Given the description of an element on the screen output the (x, y) to click on. 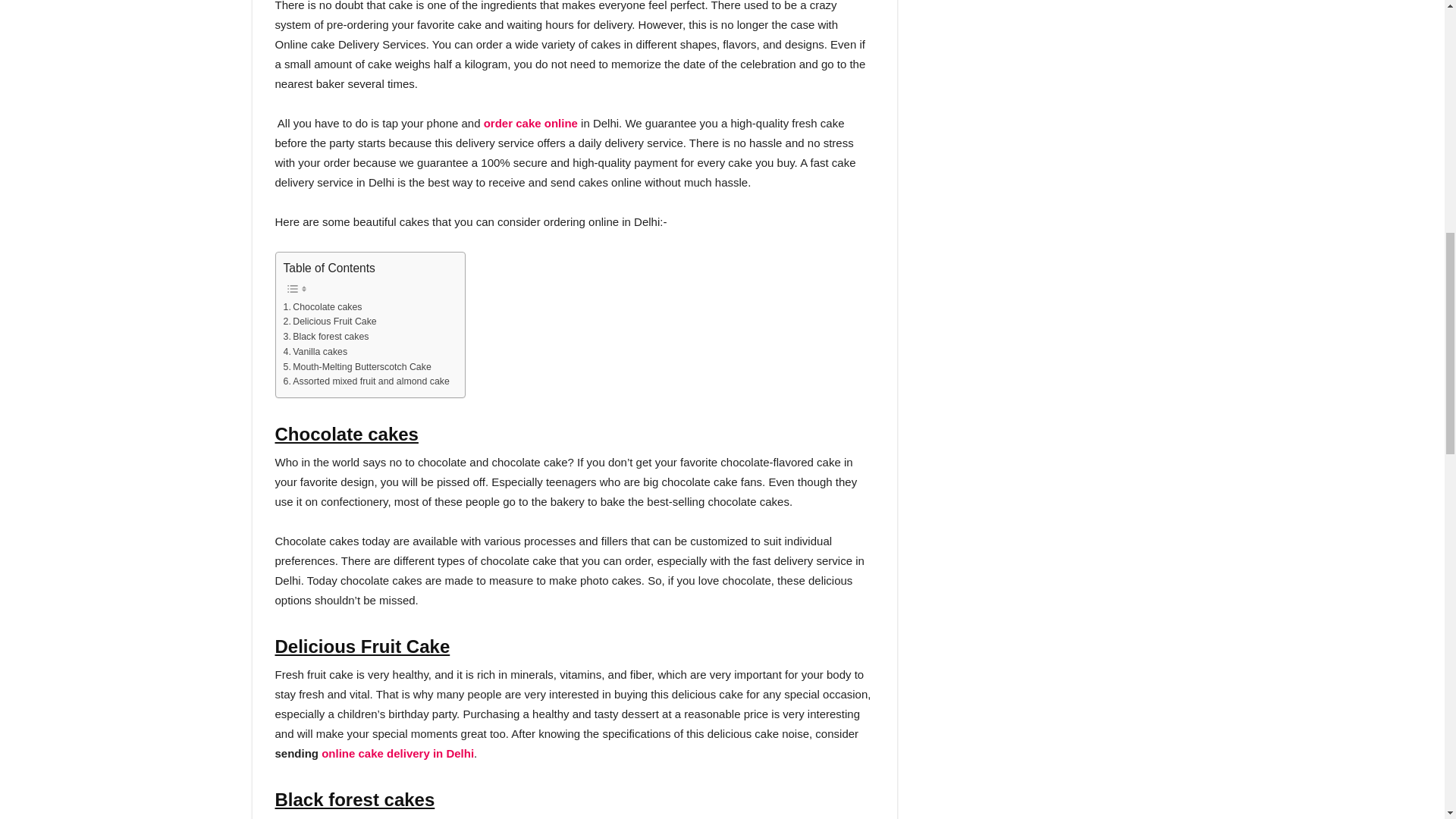
Chocolate cakes (322, 307)
Black forest cakes (326, 337)
Assorted mixed fruit and almond cake (366, 381)
Mouth-Melting Butterscotch Cake (356, 367)
Delicious Fruit Cake (330, 322)
Vanilla cakes (315, 352)
